Given the description of an element on the screen output the (x, y) to click on. 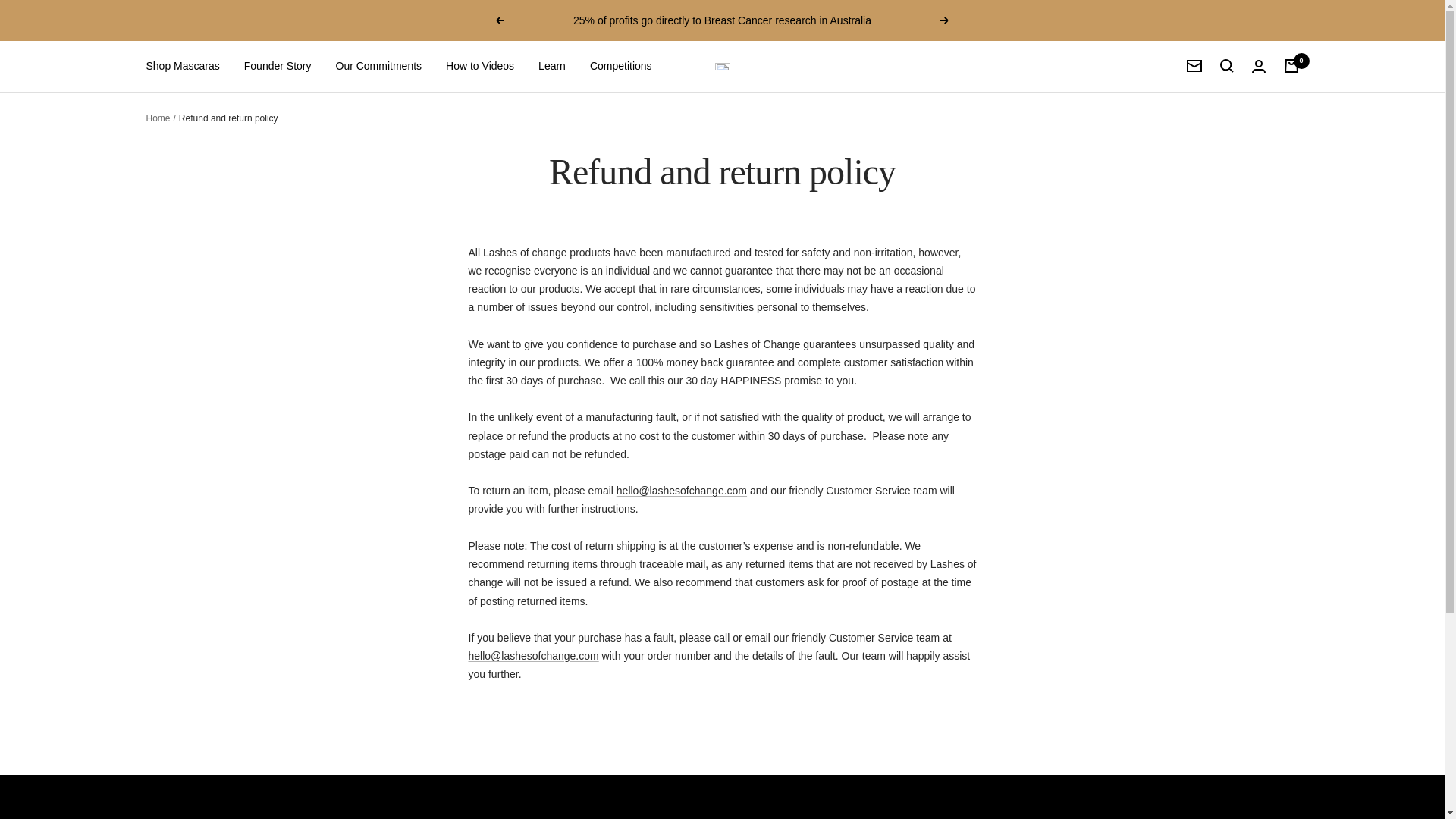
Founder Story (277, 65)
Shop Mascaras (182, 65)
Learn (552, 65)
Lashes of Change (721, 66)
Competitions (620, 65)
How to Videos (479, 65)
Newsletter (1193, 65)
0 (1290, 65)
Our Commitments (378, 65)
Next (944, 20)
Home (157, 118)
Previous (499, 20)
